Given the description of an element on the screen output the (x, y) to click on. 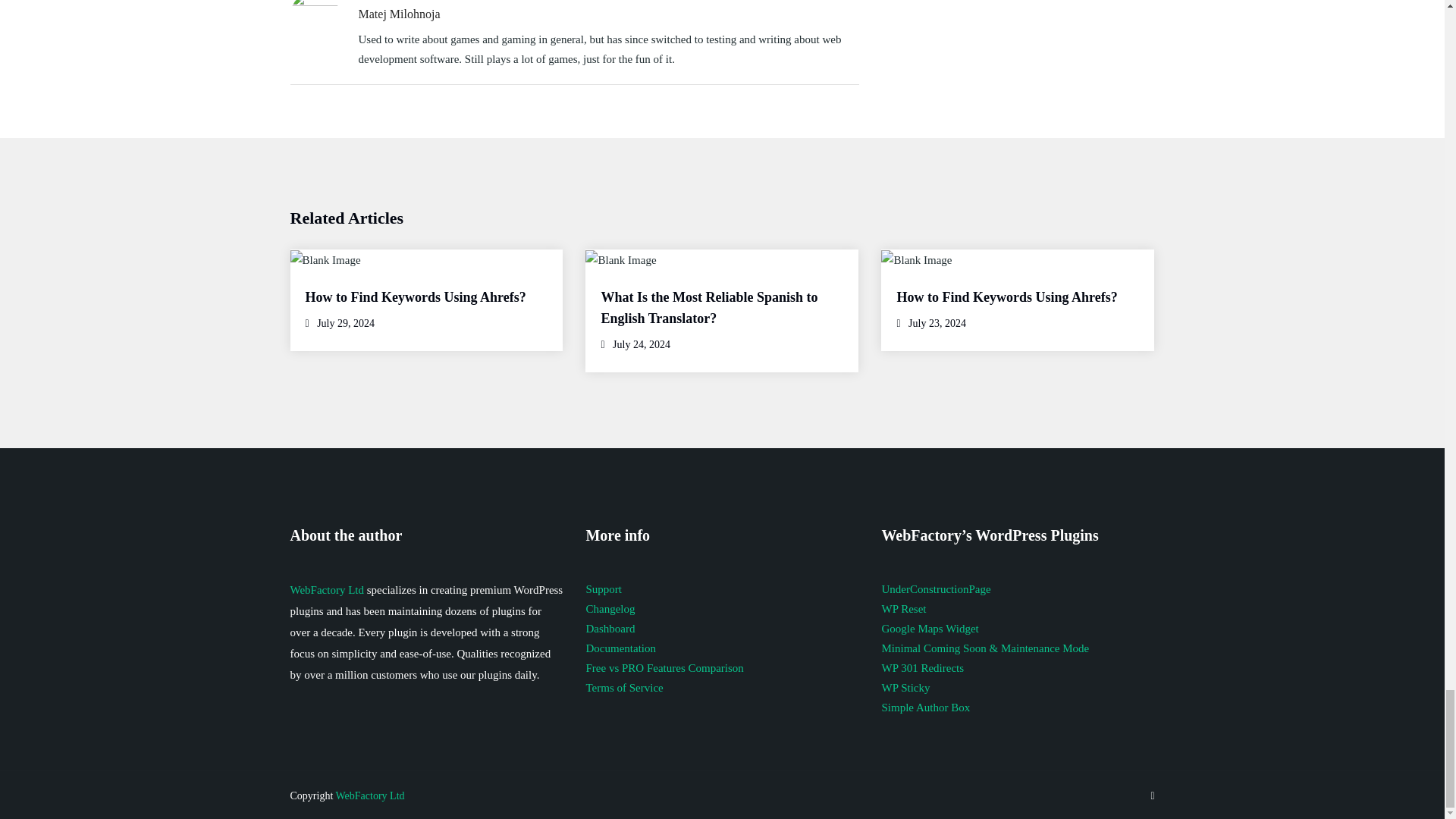
What Is the Most Reliable Spanish to English Translator? (707, 307)
How to Find Keywords Using Ahrefs? (414, 296)
How to Find Keywords Using Ahrefs? (1006, 296)
